Given the description of an element on the screen output the (x, y) to click on. 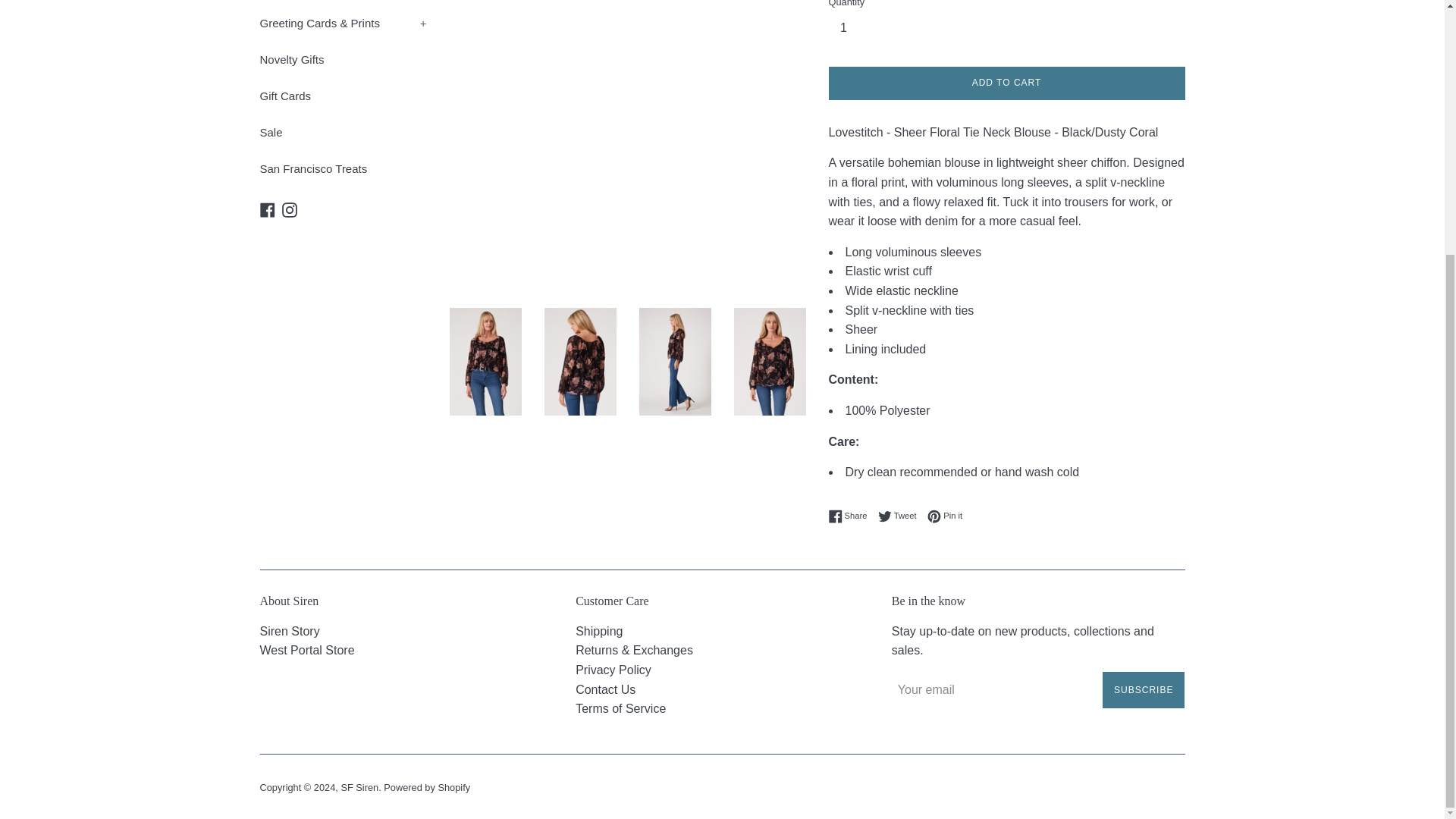
Share on Facebook (851, 516)
SF Siren on Instagram (289, 208)
SF Siren on Facebook (267, 208)
Pin on Pinterest (944, 516)
1 (848, 28)
Tweet on Twitter (900, 516)
